Given the description of an element on the screen output the (x, y) to click on. 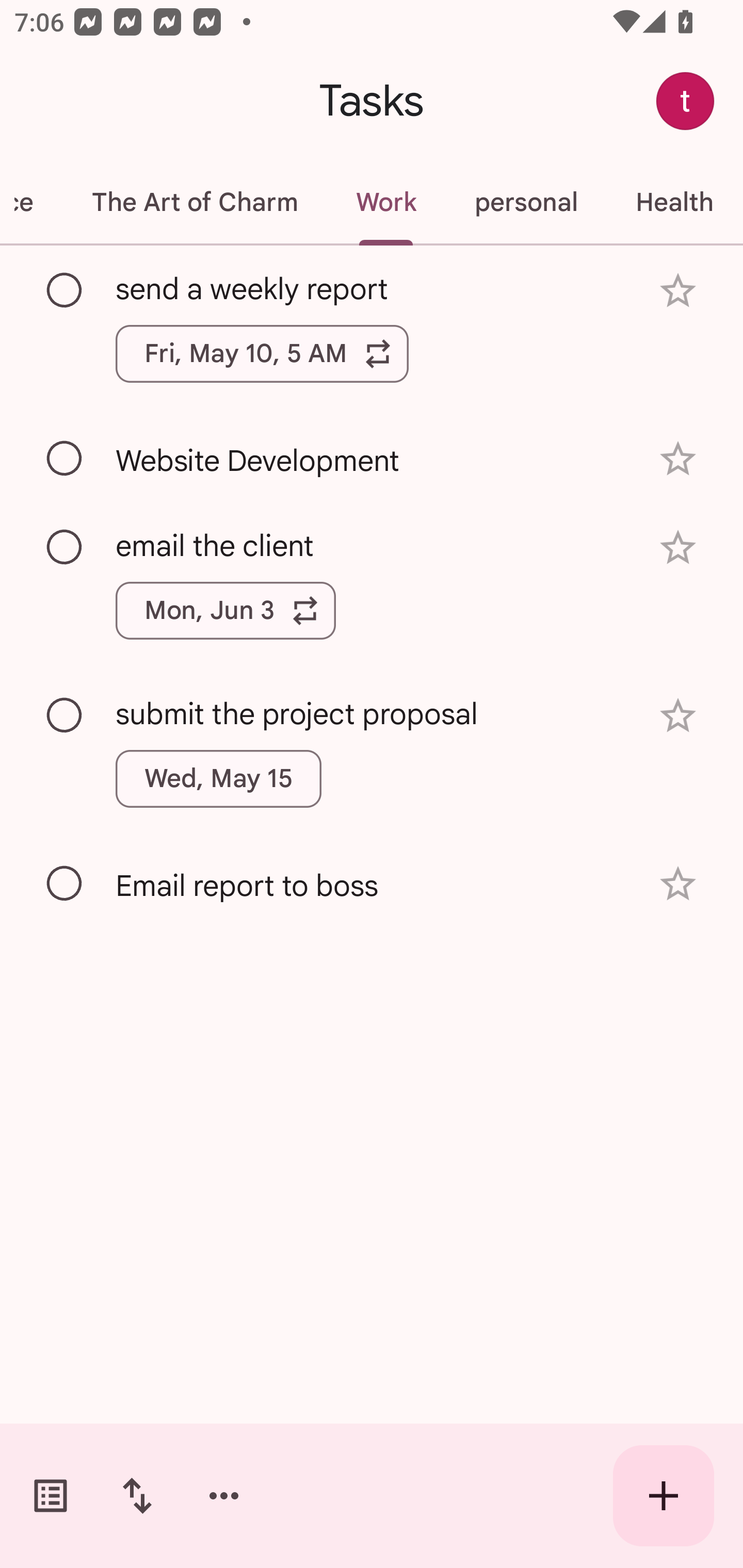
The Art of Charm (194, 202)
personal (525, 202)
Health (674, 202)
Add star (677, 290)
Mark as complete (64, 290)
Fri, May 10, 5 AM (261, 353)
Add star (677, 458)
Mark as complete (64, 459)
Add star (677, 547)
Mark as complete (64, 547)
Mon, Jun 3 (225, 610)
Add star (677, 715)
Mark as complete (64, 715)
Wed, May 15 (218, 778)
Add star (677, 883)
Mark as complete (64, 884)
Switch task lists (50, 1495)
Create new task (663, 1495)
Change sort order (136, 1495)
More options (223, 1495)
